Given the description of an element on the screen output the (x, y) to click on. 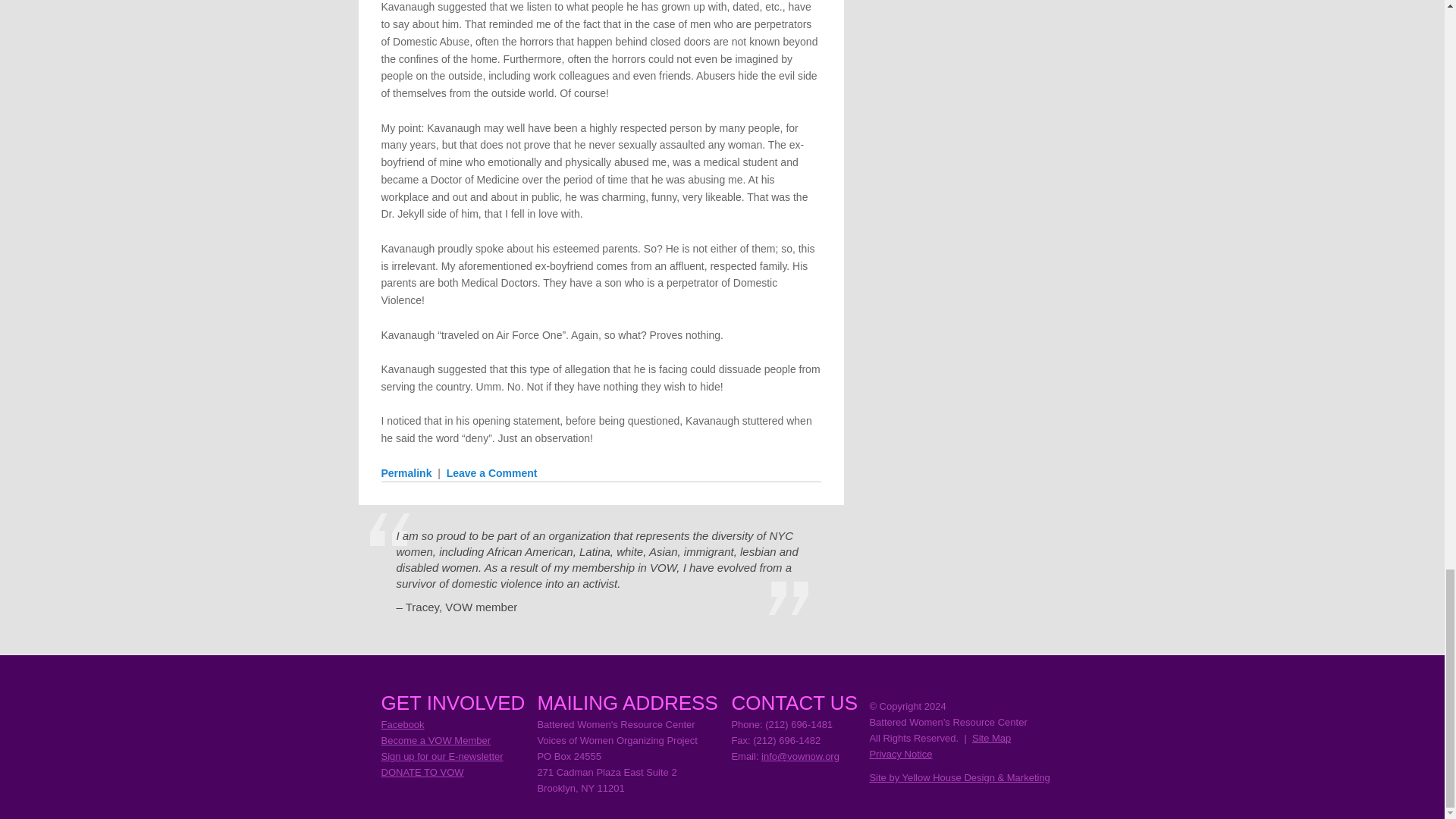
Permalink to Kavanaugh attended a Catholic School. (405, 472)
